Given the description of an element on the screen output the (x, y) to click on. 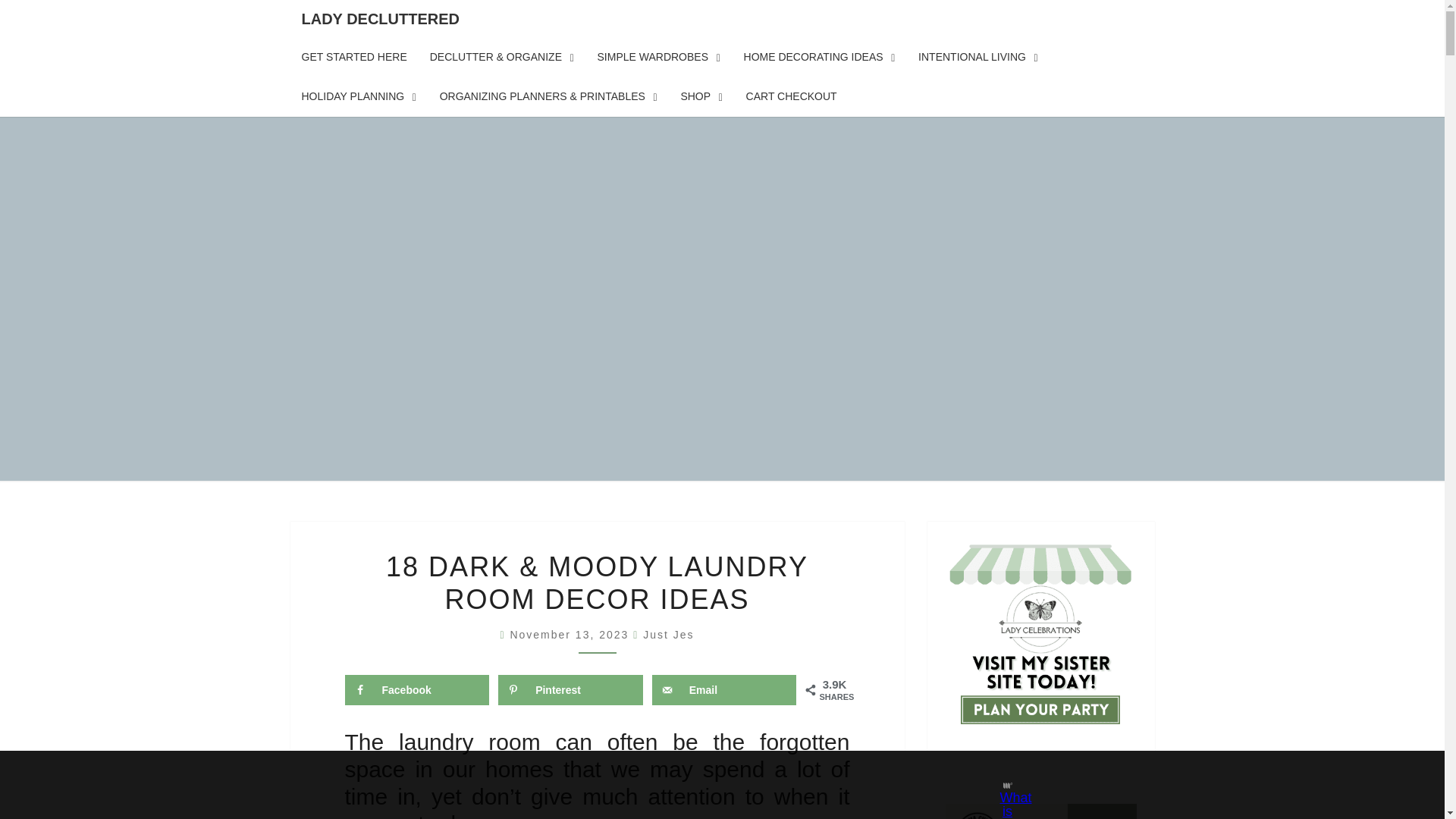
Share on Facebook (416, 689)
INTENTIONAL LIVING (978, 56)
HOME DECORATING IDEAS (819, 56)
View all posts by Just Jes (668, 634)
Send over email (724, 689)
SIMPLE WARDROBES (658, 56)
LADY DECLUTTERED (379, 18)
3rd party ad content (708, 785)
1:49 pm (571, 634)
Save to Pinterest (570, 689)
HOLIDAY PLANNING (358, 96)
GET STARTED HERE (353, 56)
